Given the description of an element on the screen output the (x, y) to click on. 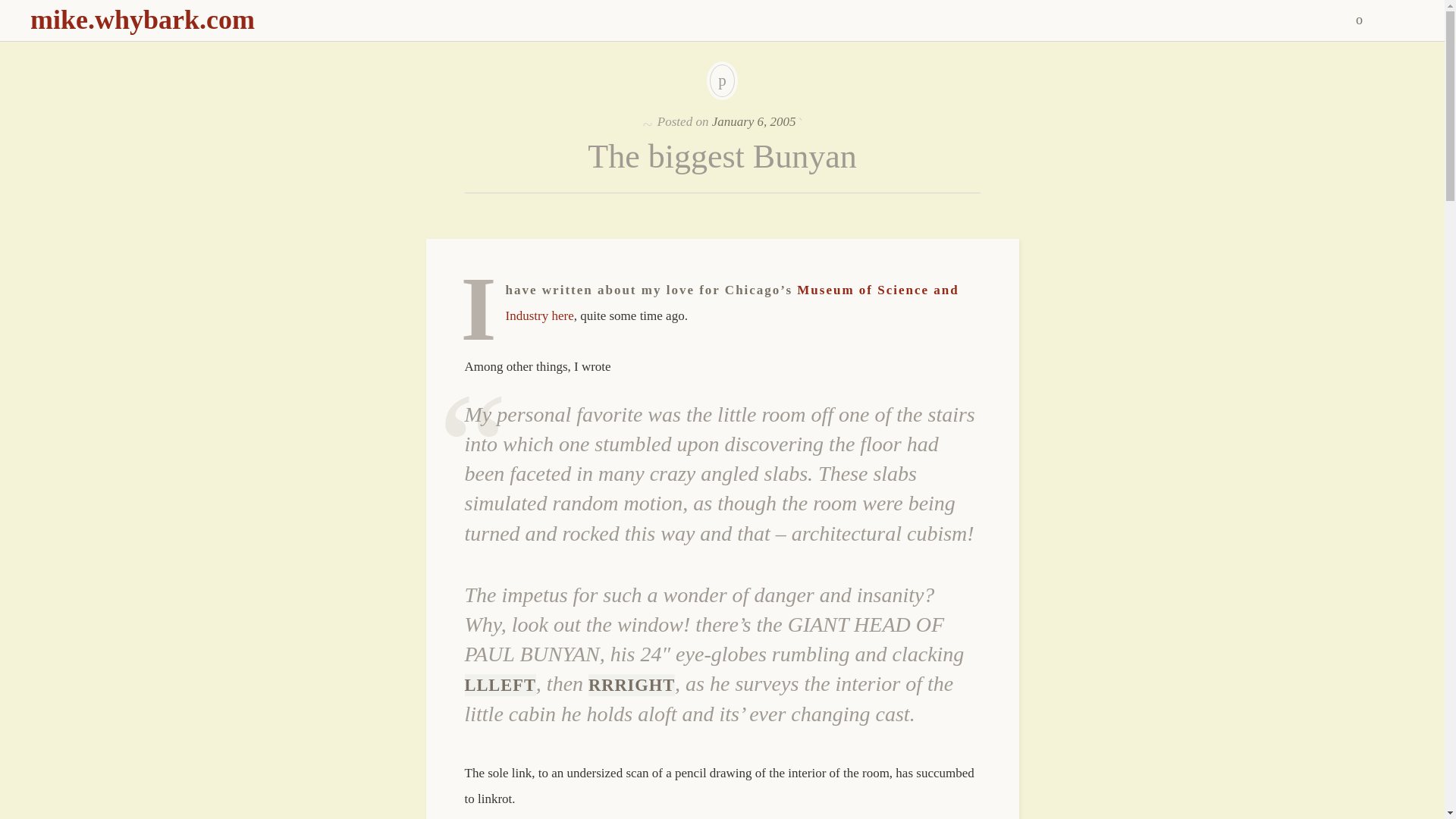
January 6, 2005 (753, 120)
mike.whybark.com (142, 19)
Search (11, 9)
Museum of Science and Industry here (732, 302)
mike.whybark.com (142, 19)
